Given the description of an element on the screen output the (x, y) to click on. 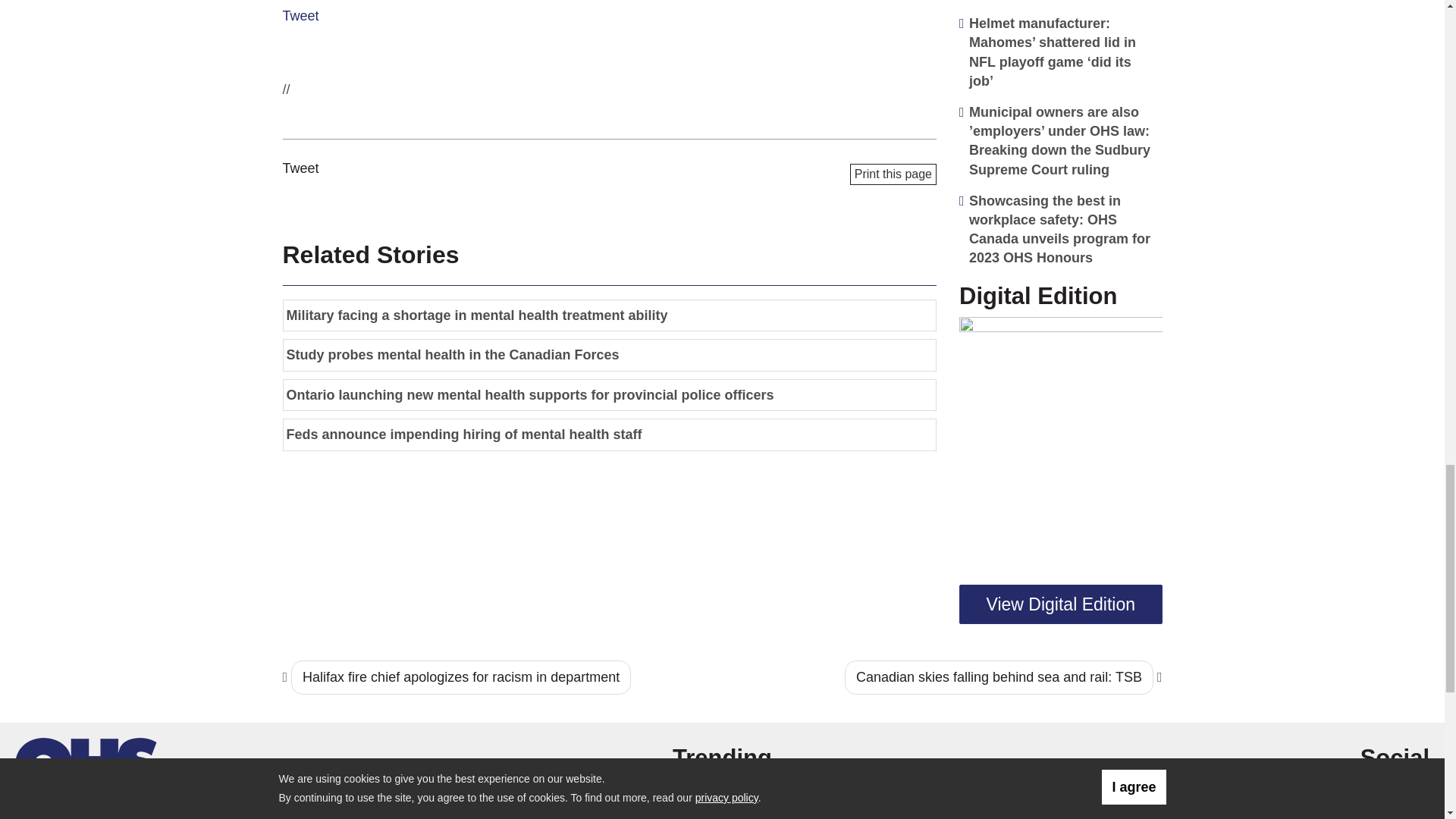
OHS Canada Magazine (86, 762)
